Given the description of an element on the screen output the (x, y) to click on. 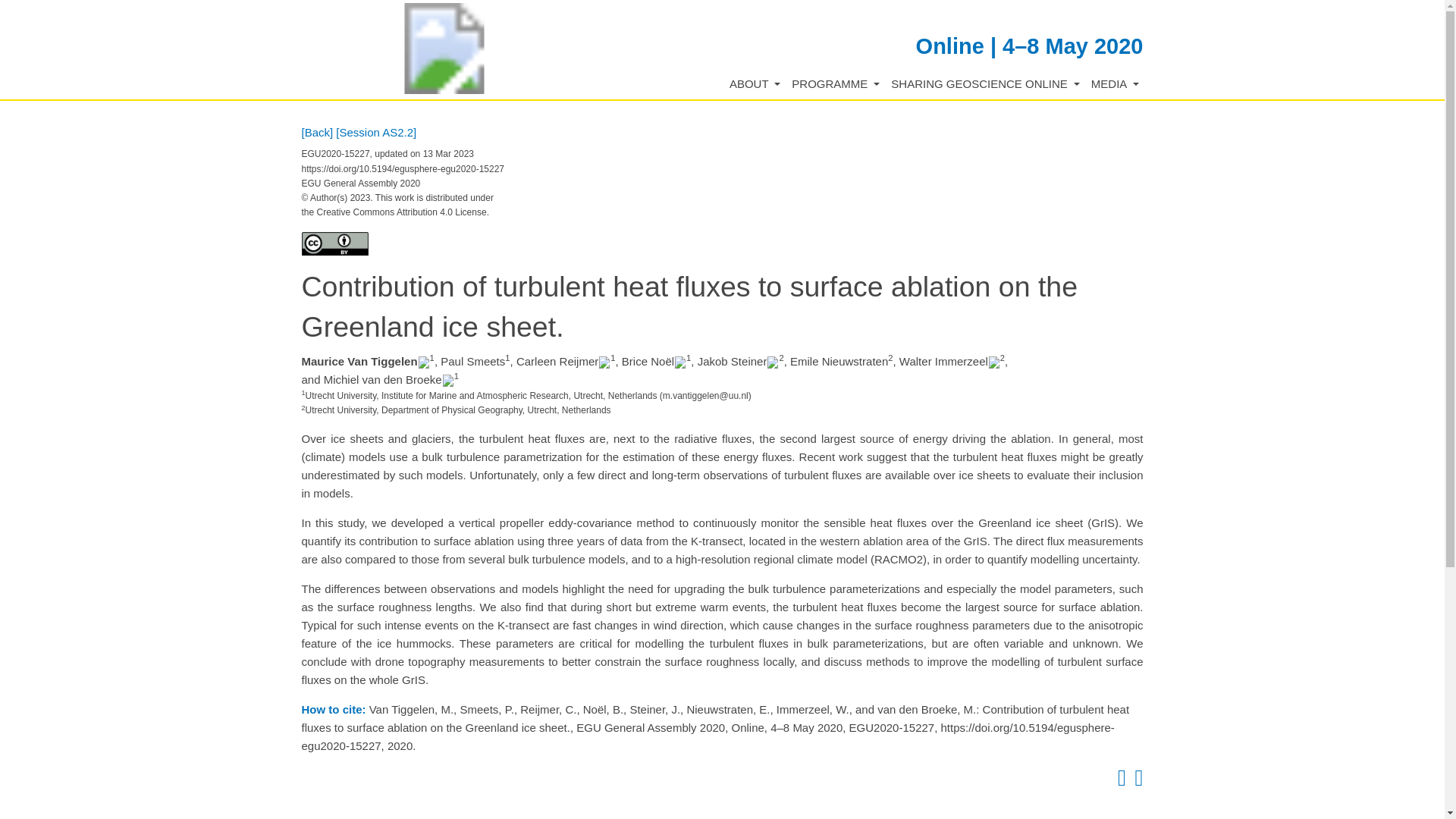
Open QR code linking to abstract URL (1135, 780)
Copy to clipboard (1118, 780)
PROGRAMME (835, 84)
ABOUT (754, 84)
SHARING GEOSCIENCE ONLINE (985, 84)
MEDIA (1114, 84)
